Given the description of an element on the screen output the (x, y) to click on. 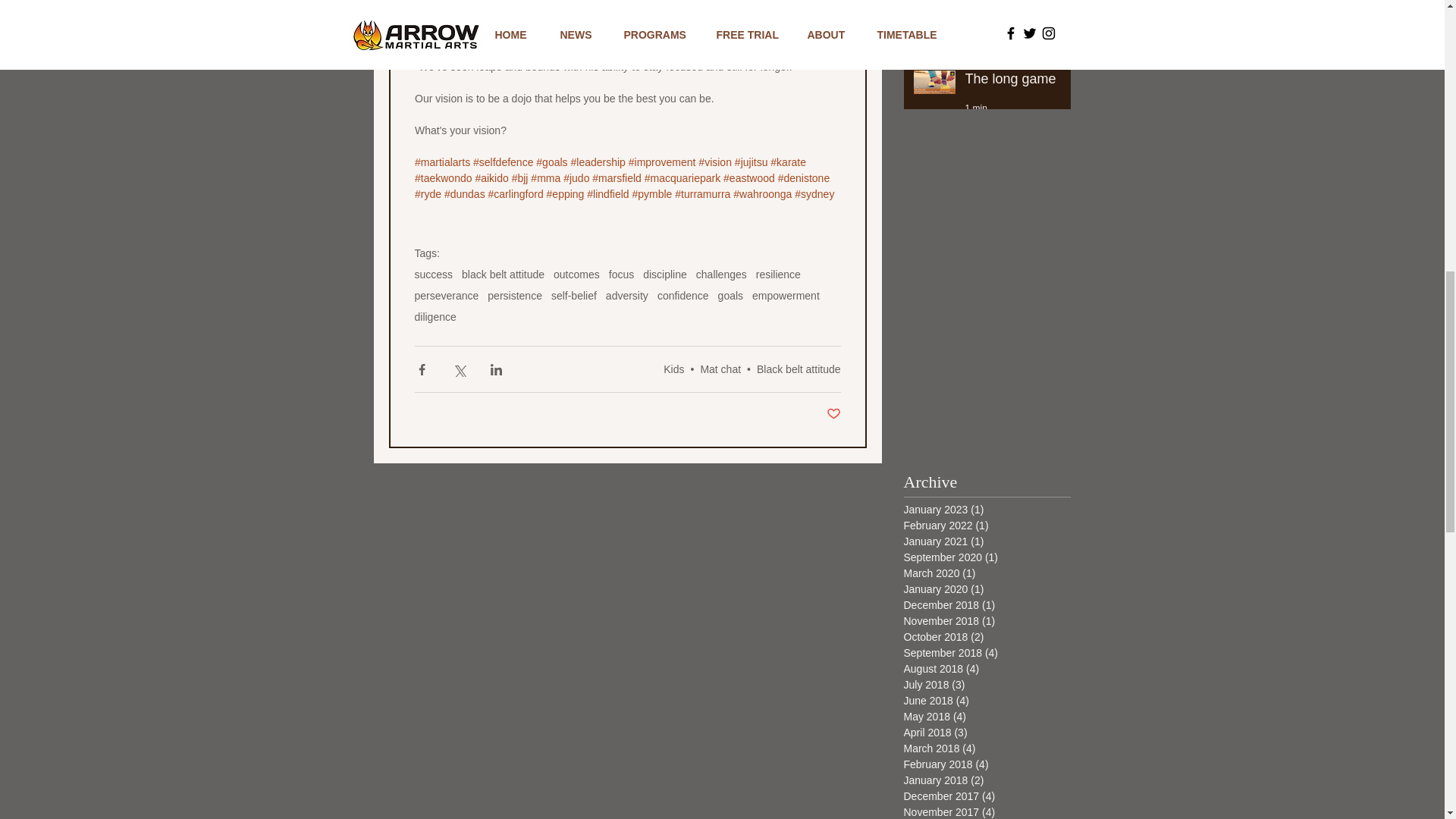
1 min (975, 108)
